Given the description of an element on the screen output the (x, y) to click on. 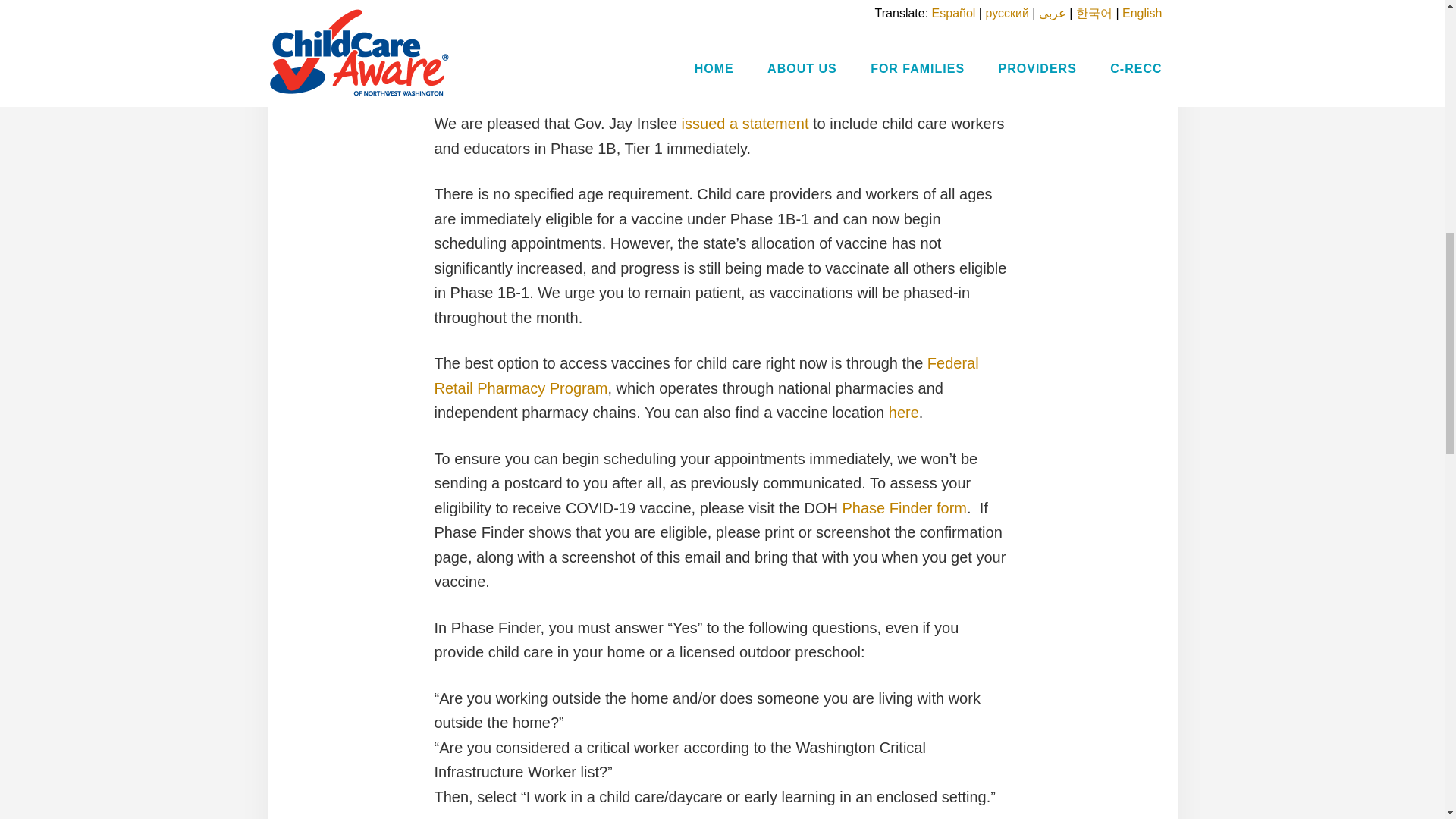
issued a statement (745, 123)
Phase Finder form (903, 506)
Federal Retail Pharmacy Program (705, 375)
here (903, 412)
